Given the description of an element on the screen output the (x, y) to click on. 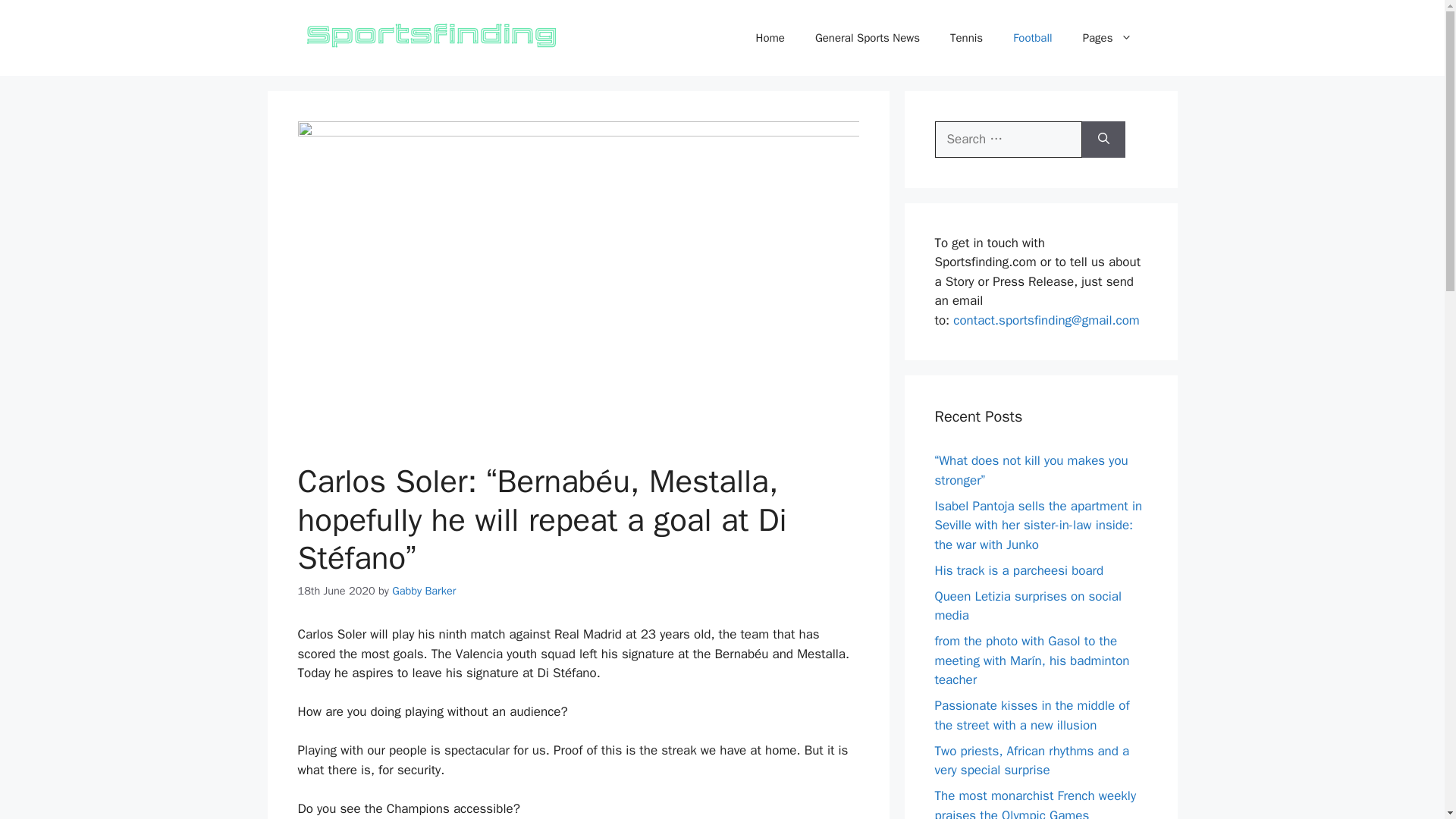
Tennis (965, 37)
General Sports News (866, 37)
View all posts by Gabby Barker (423, 590)
Home (770, 37)
Queen Letizia surprises on social media (1027, 606)
Pages (1107, 37)
His track is a parcheesi board (1018, 570)
Football (1032, 37)
Gabby Barker (423, 590)
Search for: (1007, 139)
Two priests, African rhythms and a very special surprise (1031, 760)
